Given the description of an element on the screen output the (x, y) to click on. 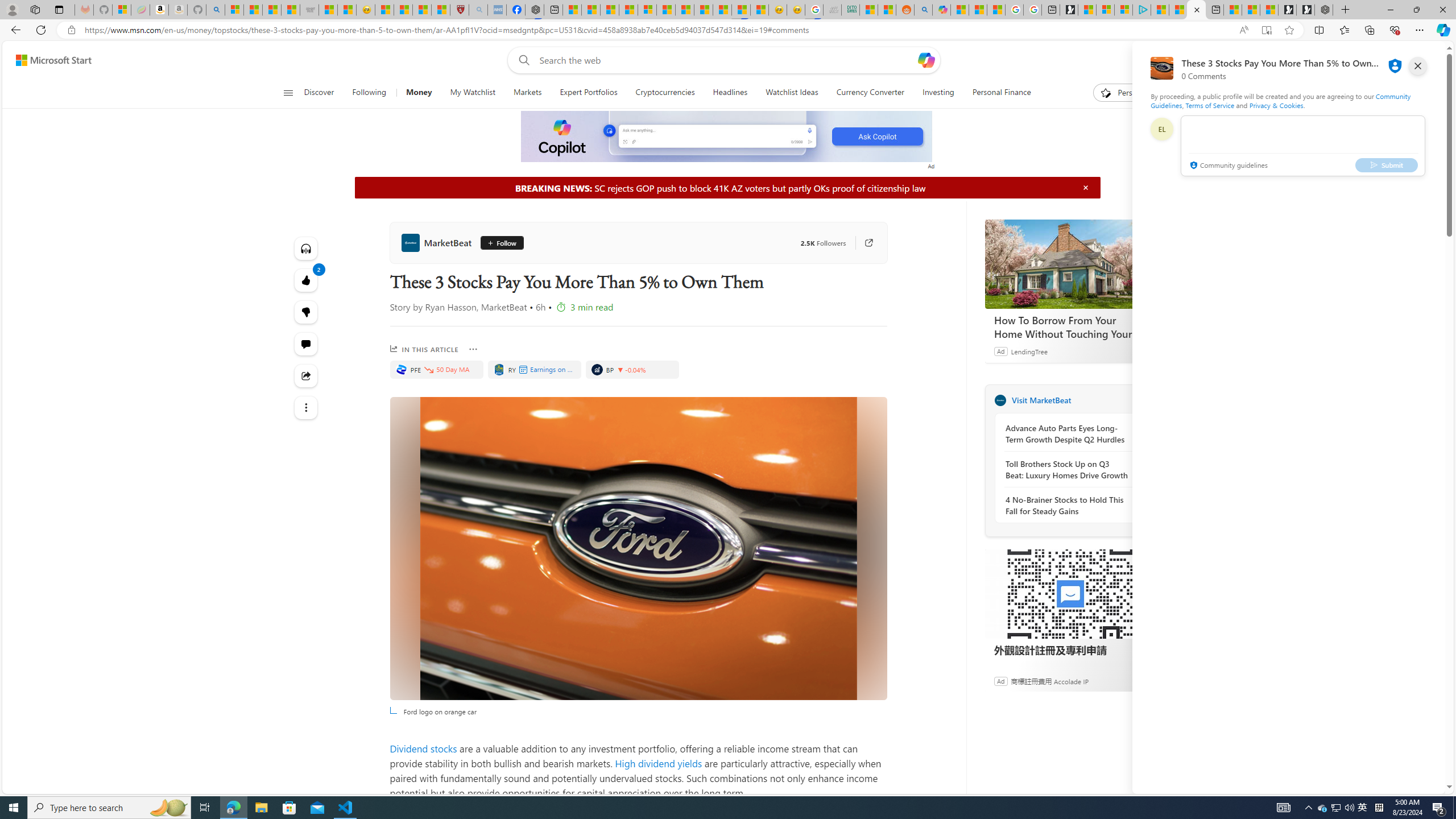
Enter your search term (726, 59)
Hide (1084, 187)
Money (419, 92)
Investing (937, 92)
Robert H. Shmerling, MD - Harvard Health (459, 9)
PFE, PFIZER INC.. Price is 28.79. Decreased by -0.83% (436, 369)
